Given the description of an element on the screen output the (x, y) to click on. 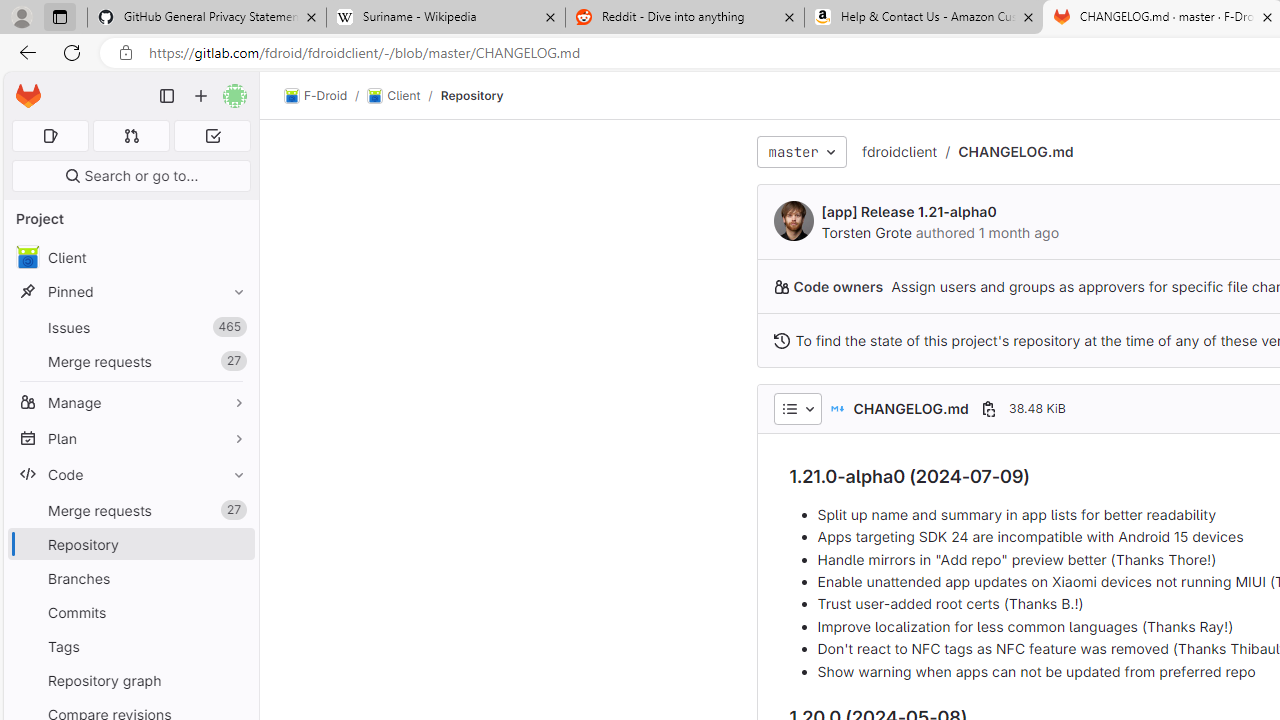
Tags (130, 646)
[app] Release 1.21-alpha0 (908, 211)
Client/ (404, 96)
Tags (130, 646)
